Given the description of an element on the screen output the (x, y) to click on. 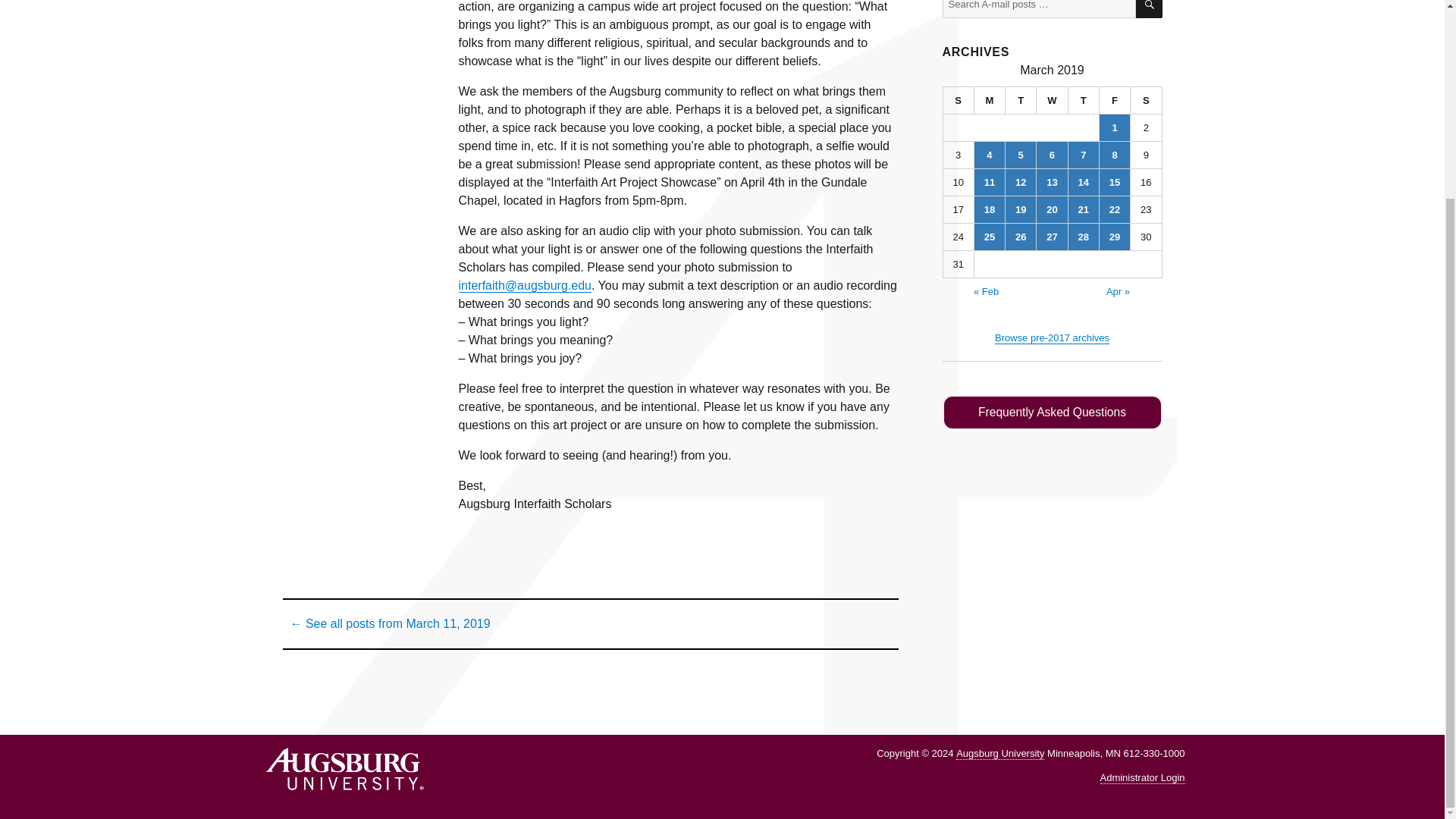
11 (989, 181)
Frequently Asked Questions (1051, 411)
Monday (990, 100)
Sunday (958, 100)
Wednesday (1051, 100)
26 (1020, 236)
SEARCH (1148, 9)
1 (1114, 127)
25 (989, 236)
21 (1083, 209)
